Given the description of an element on the screen output the (x, y) to click on. 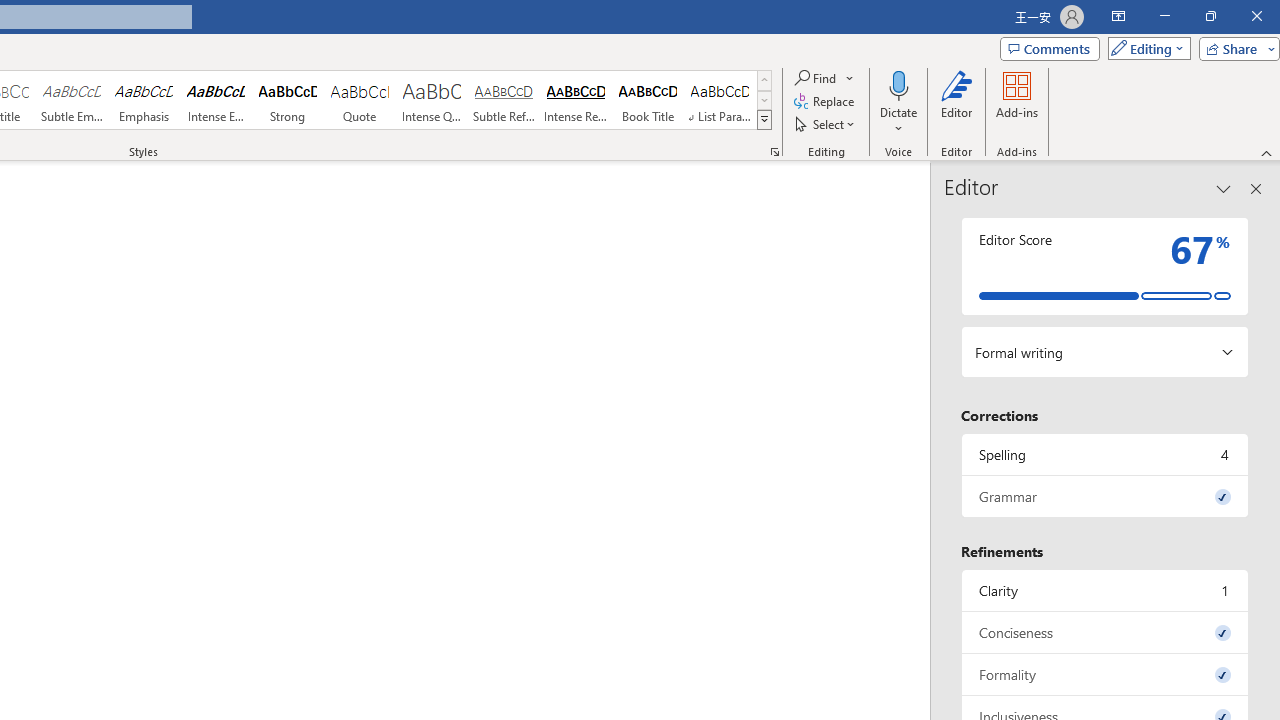
Grammar, 0 issues. Press space or enter to review items. (1105, 495)
Strong (287, 100)
Formality, 0 issues. Press space or enter to review items. (1105, 673)
Subtle Emphasis (71, 100)
Intense Emphasis (216, 100)
